Given the description of an element on the screen output the (x, y) to click on. 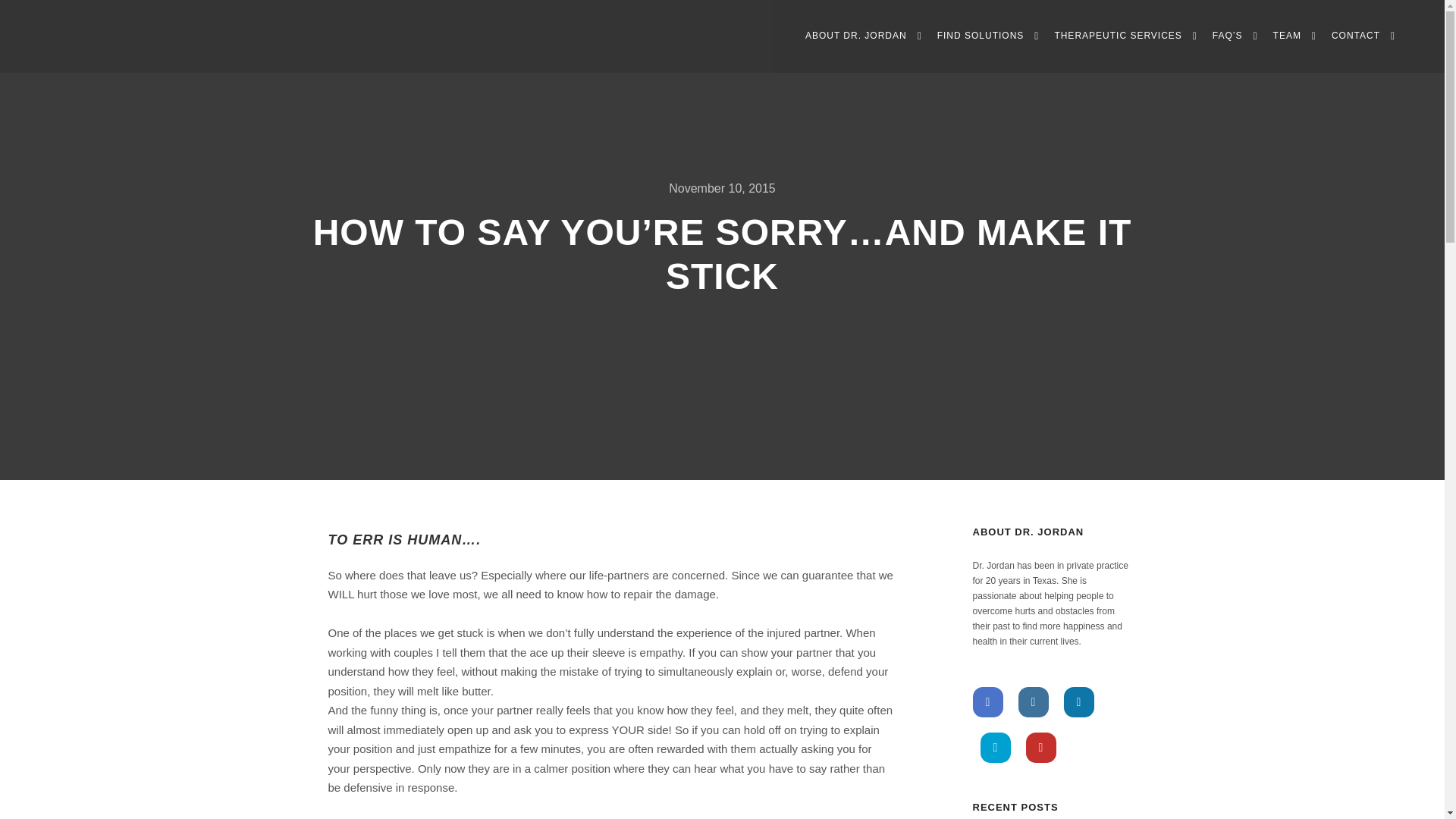
Instagram (1032, 702)
THERAPEUTIC SERVICES (1115, 36)
Twitter (994, 747)
ABOUT DR. JORDAN (853, 36)
FIND SOLUTIONS (978, 36)
Facebook (987, 702)
Linkedin (1077, 702)
Krista Jordan (106, 36)
YouTube (1040, 747)
